Given the description of an element on the screen output the (x, y) to click on. 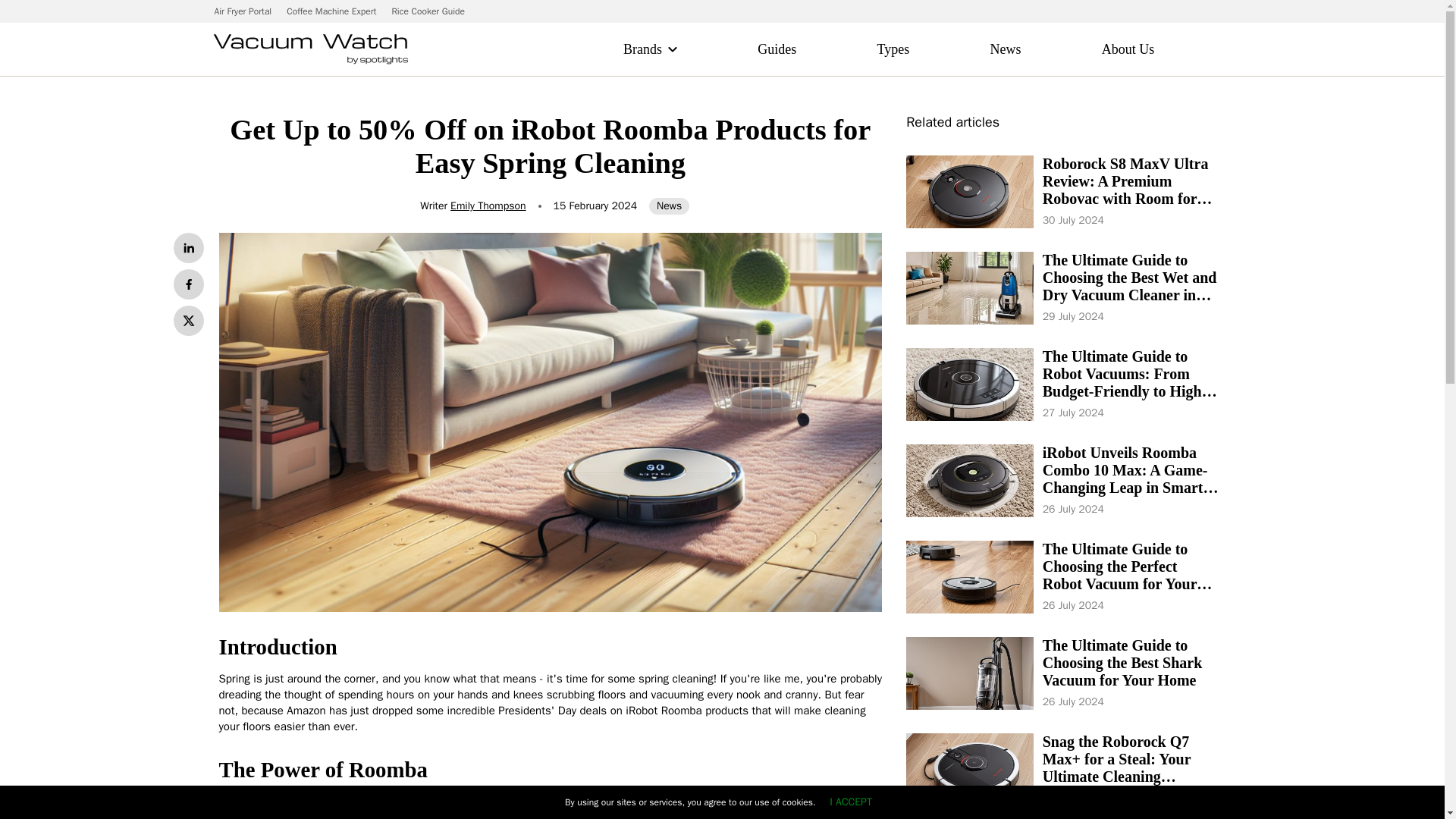
Air Fryer Portal (242, 10)
Types (893, 48)
Rice Cooker Guide (427, 10)
News (668, 206)
Brands (642, 48)
About Us (1128, 48)
Emily Thompson (487, 205)
Coffee Machine Expert (331, 10)
News (1006, 48)
Guides (776, 48)
